Given the description of an element on the screen output the (x, y) to click on. 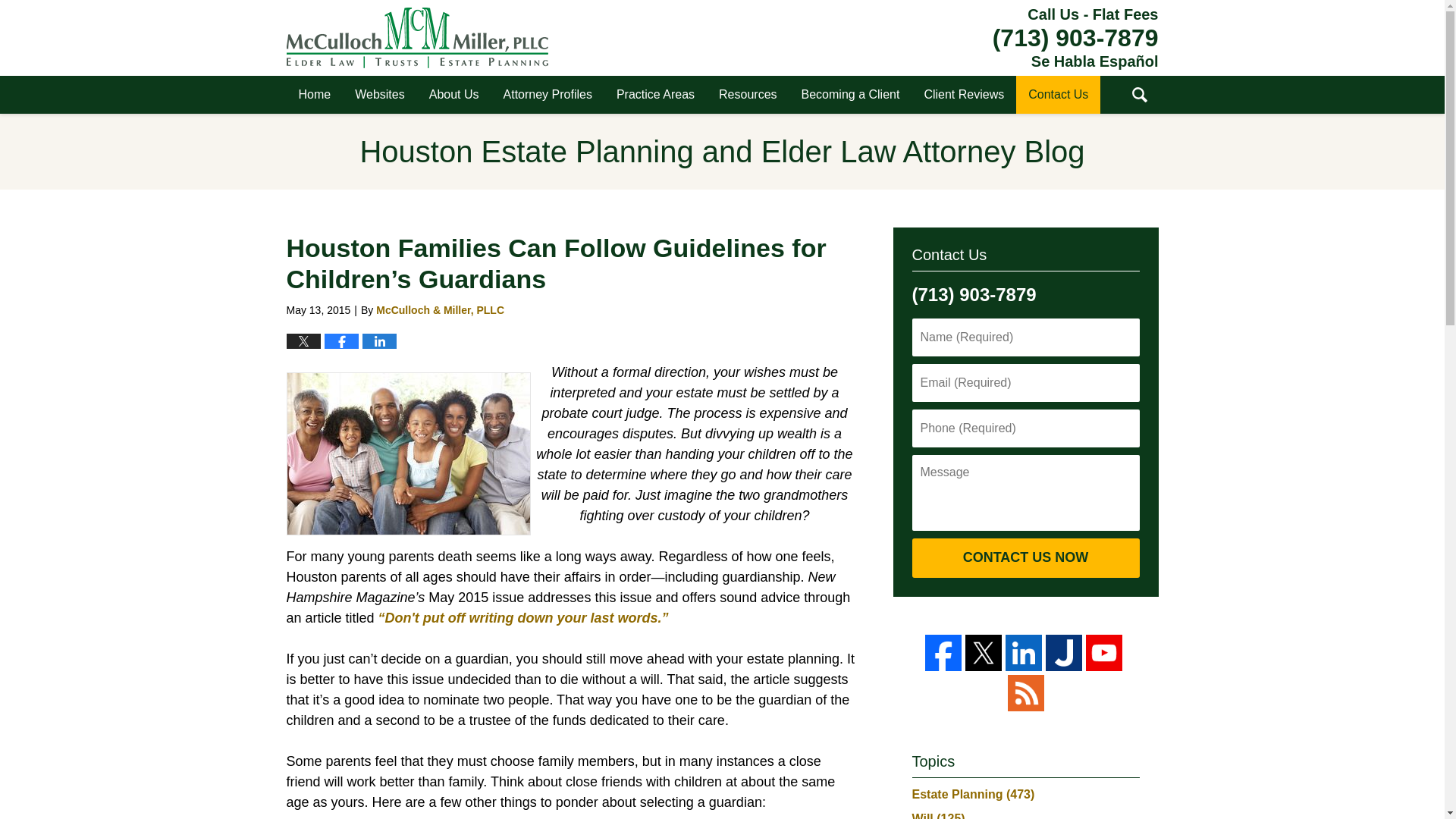
About Us (454, 94)
Websites (379, 94)
Client Reviews (963, 94)
Becoming a Client (850, 94)
Houston Estate Planning and Elder Law Attorney Blog (417, 37)
Contact Us (1058, 94)
Home (314, 94)
Attorney Profiles (548, 94)
Resources (747, 94)
Practice Areas (655, 94)
Bigstock-Extended-Family-Relaxing-On-So-13907567 (408, 453)
